Given the description of an element on the screen output the (x, y) to click on. 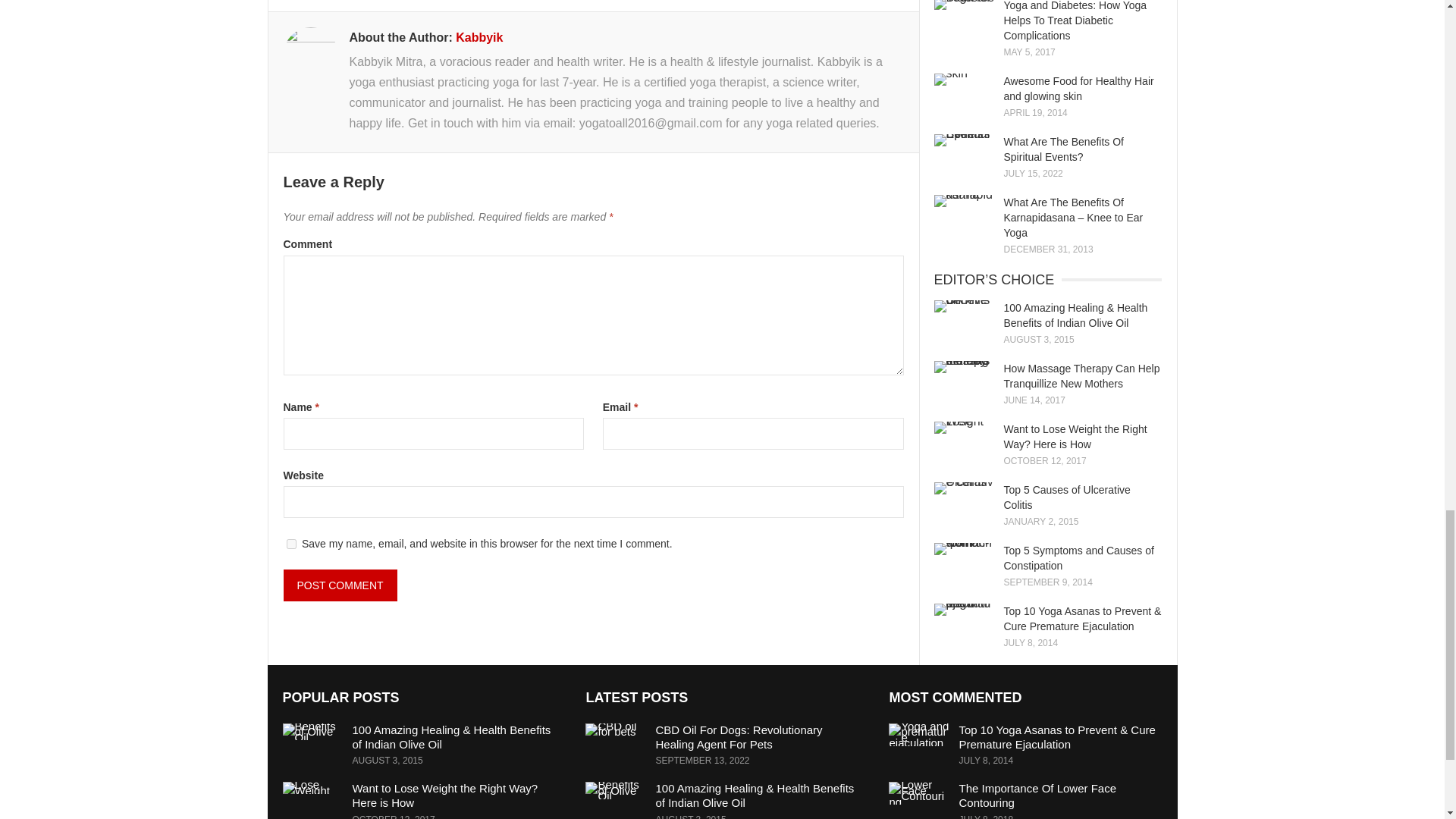
yes (291, 543)
Post Comment (340, 585)
